Given the description of an element on the screen output the (x, y) to click on. 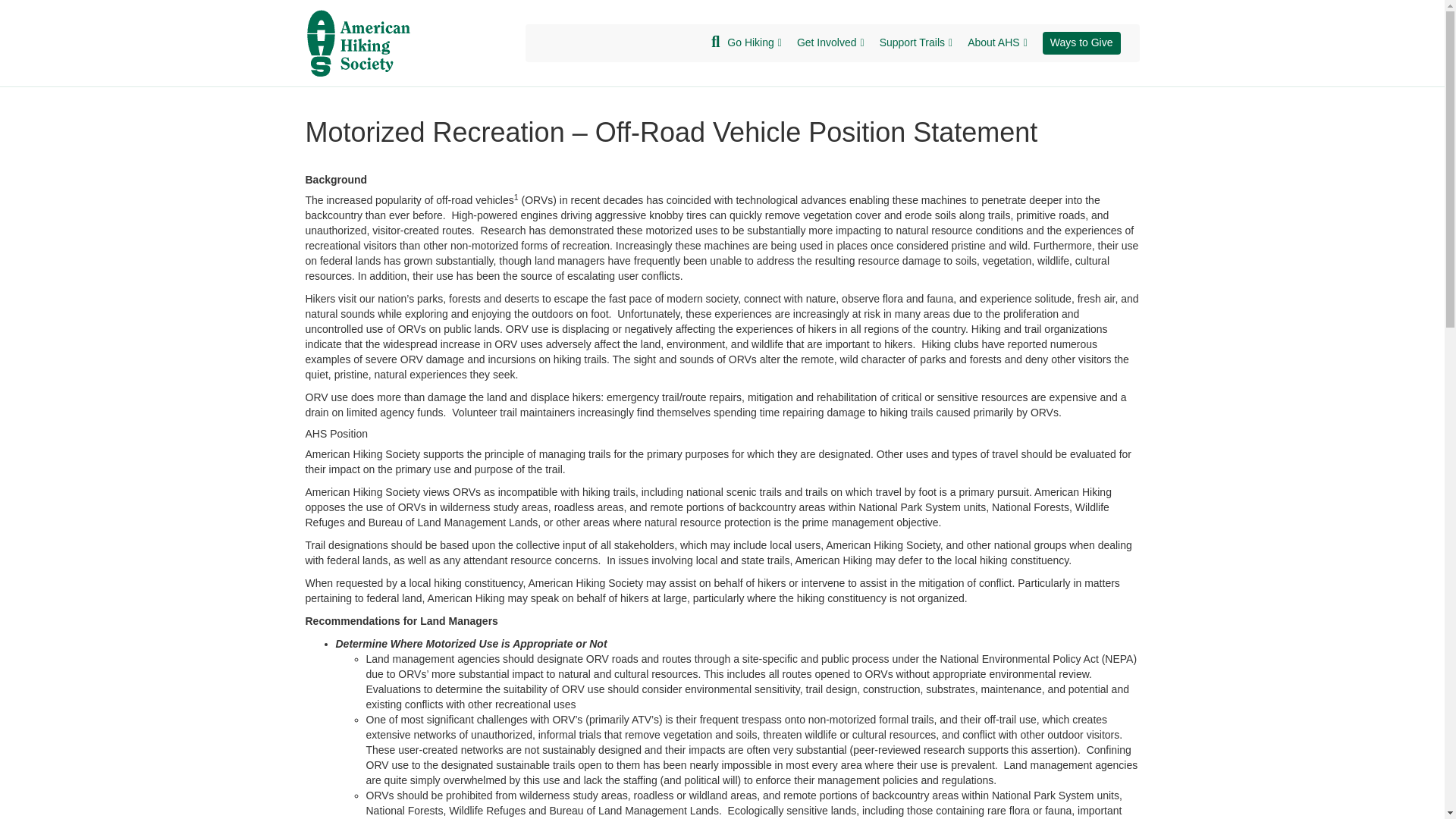
Get Involved (830, 43)
Go Hiking (754, 43)
